Given the description of an element on the screen output the (x, y) to click on. 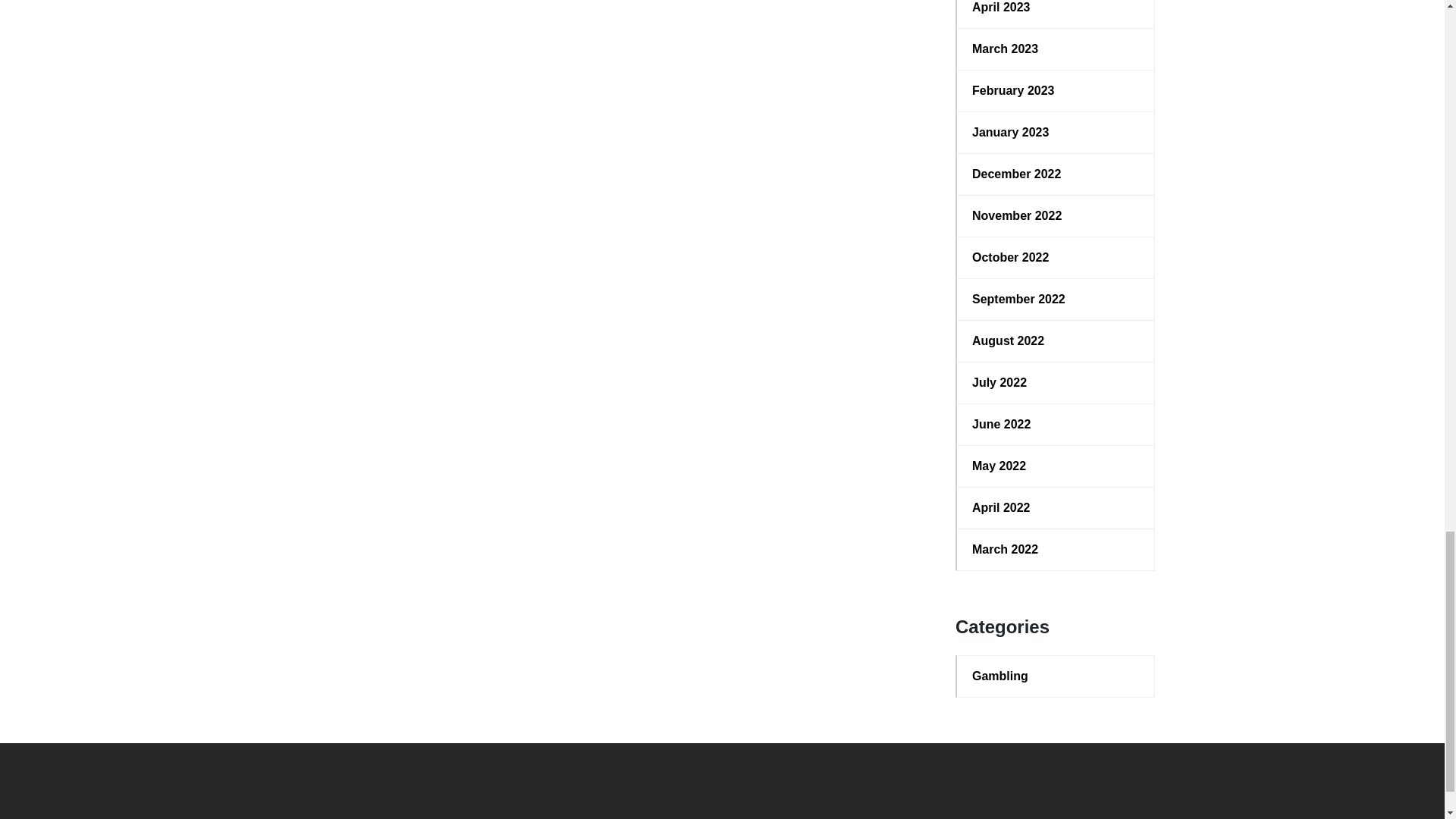
February 2023 (1055, 90)
September 2022 (1055, 299)
December 2022 (1055, 174)
October 2022 (1055, 257)
March 2023 (1055, 49)
January 2023 (1055, 132)
April 2023 (1055, 8)
November 2022 (1055, 216)
